Given the description of an element on the screen output the (x, y) to click on. 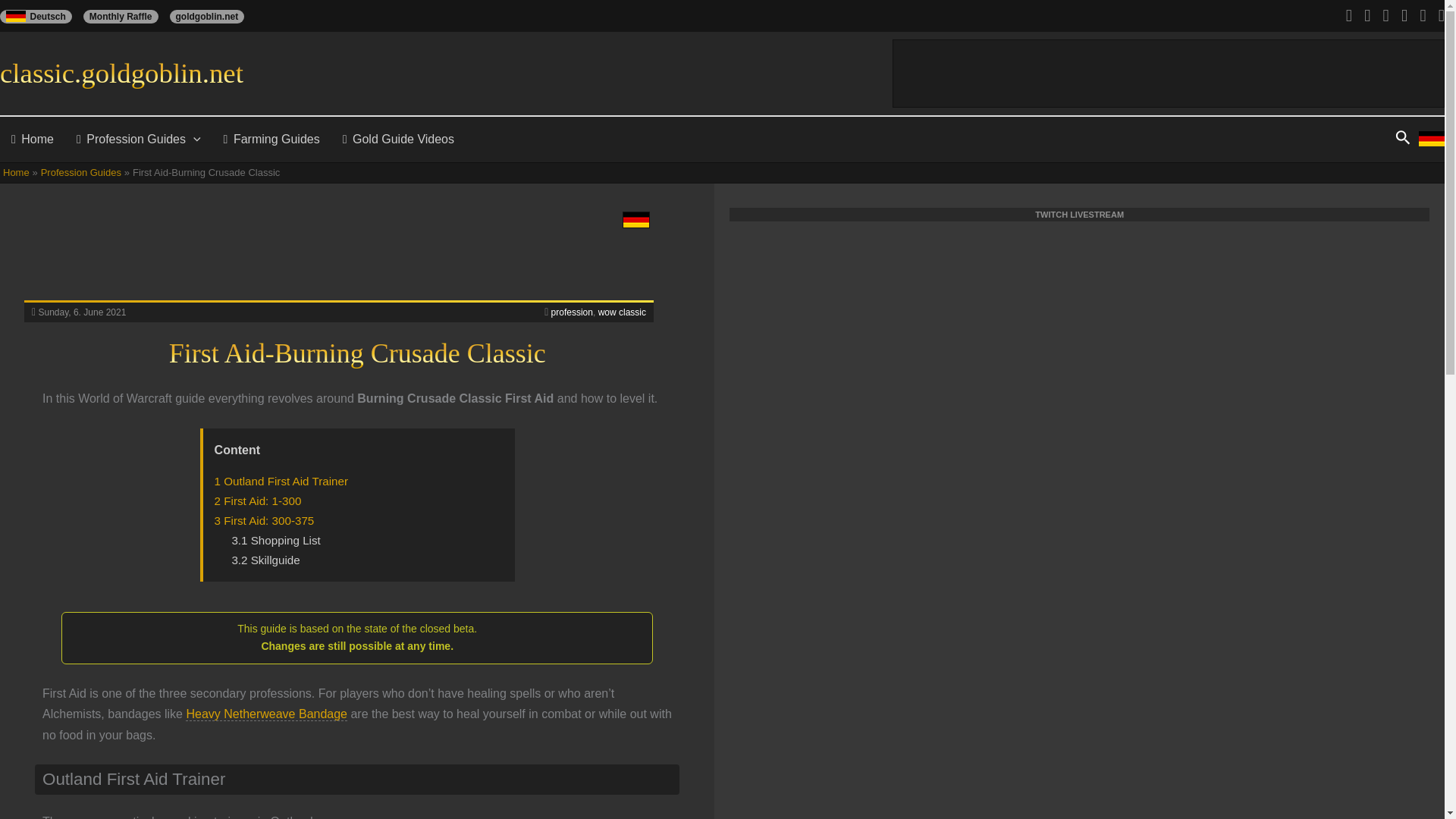
Profession Guides (138, 139)
Monthly Raffle (126, 16)
Deutsch (41, 16)
goldgoblin.net (213, 16)
classic.goldgoblin.net (121, 72)
Home (32, 139)
